Given the description of an element on the screen output the (x, y) to click on. 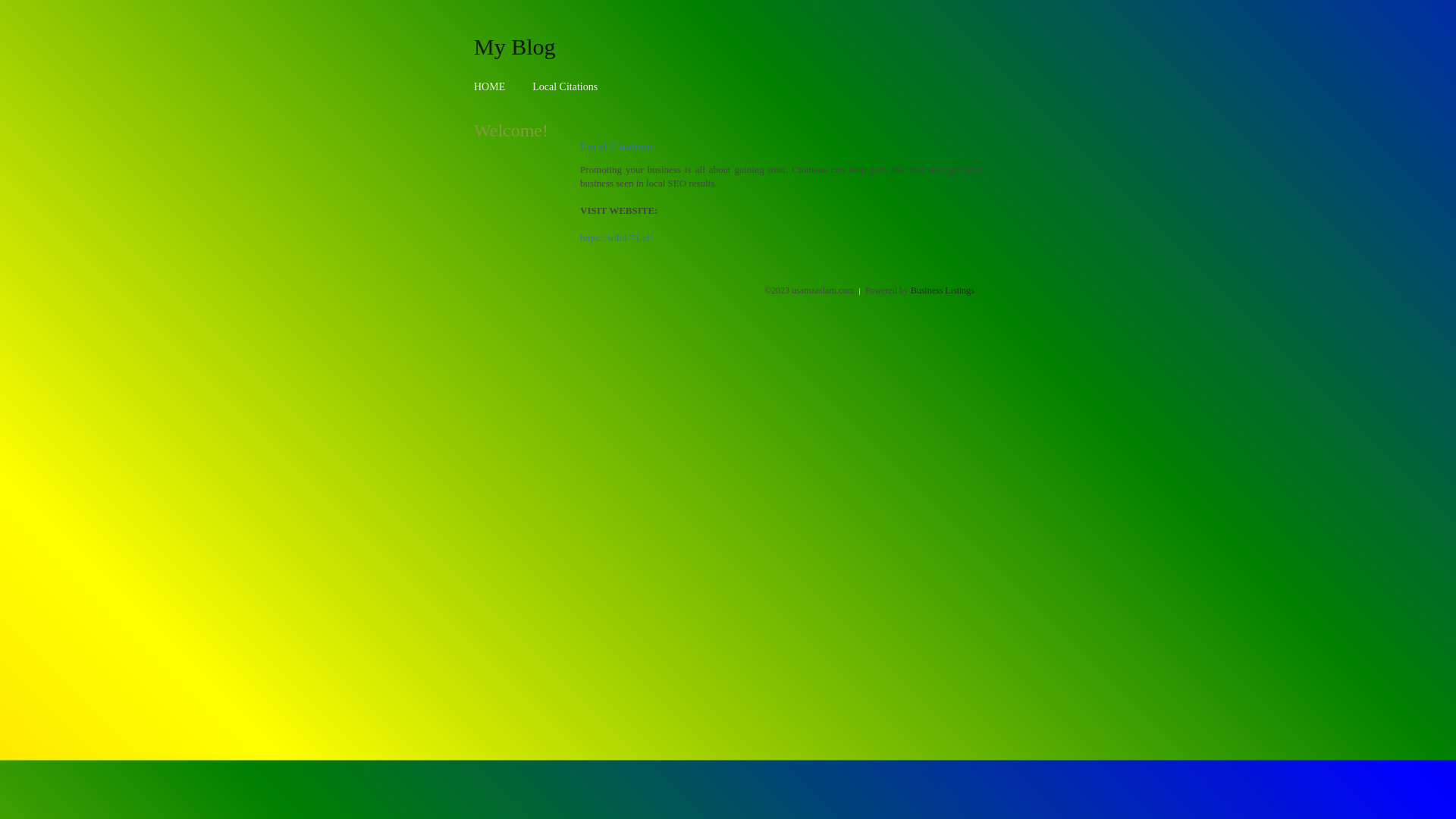
https://solid-71.cf/ Element type: text (616, 237)
Business Listings Element type: text (942, 290)
HOME Element type: text (489, 86)
Local Citations Element type: text (564, 86)
My Blog Element type: text (514, 46)
